Given the description of an element on the screen output the (x, y) to click on. 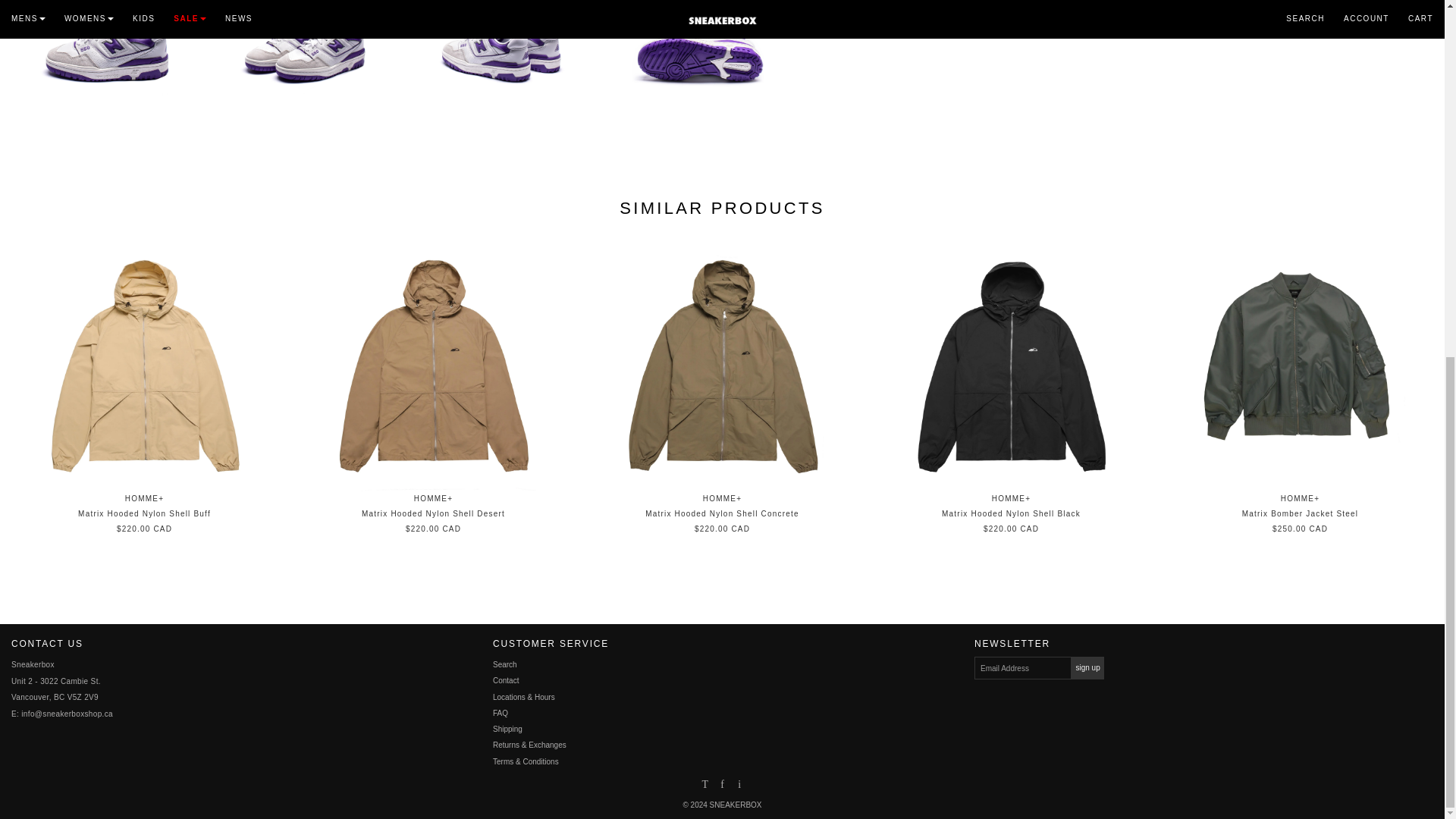
SNEAKERBOX on Facebook (721, 785)
SNEAKERBOX on Instagram (739, 785)
SNEAKERBOX on Twitter (704, 785)
